Given the description of an element on the screen output the (x, y) to click on. 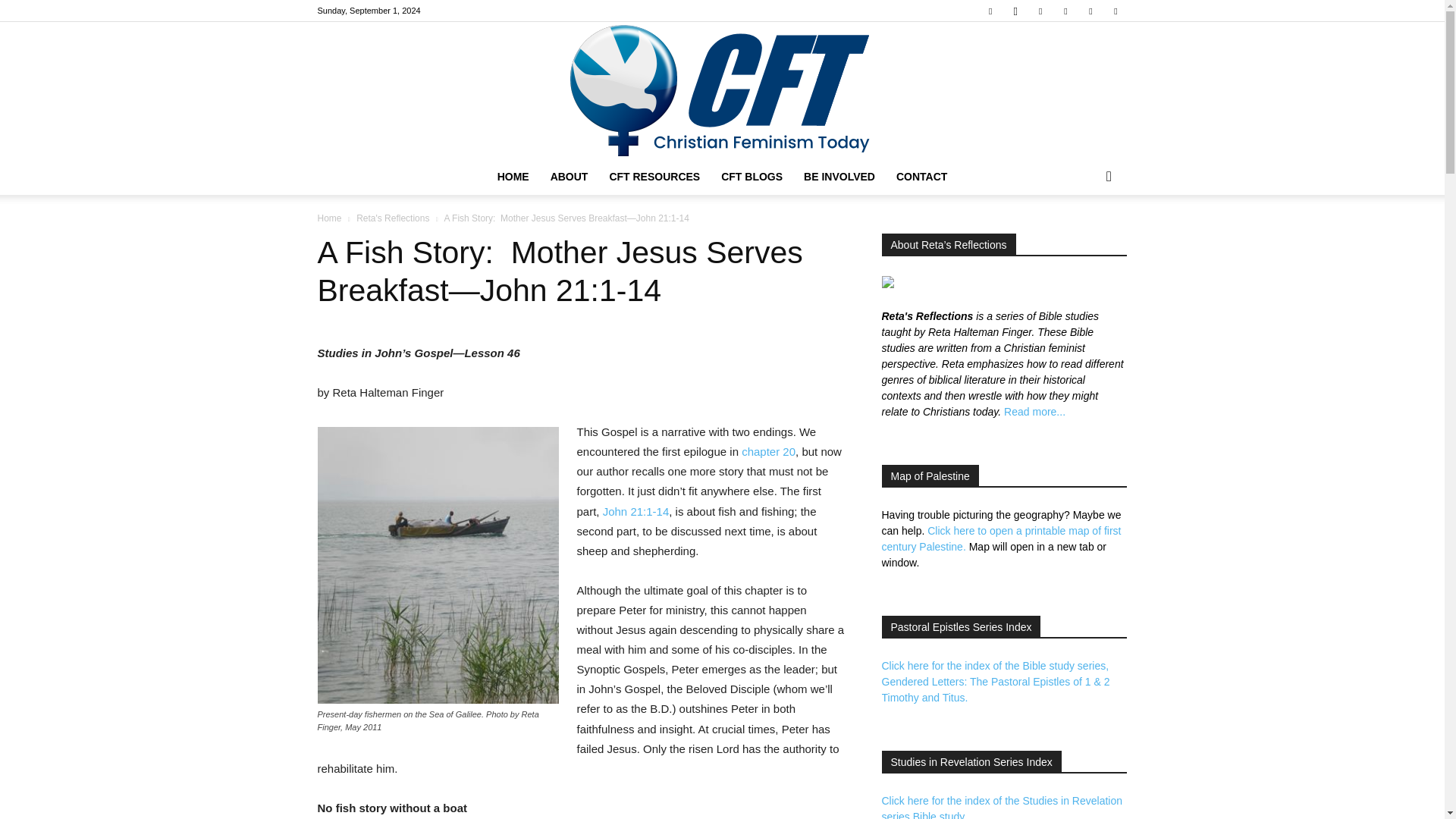
Twitter (1090, 10)
RSS (1065, 10)
Mail (1040, 10)
Christian Feminism Today (721, 90)
Facebook (989, 10)
Youtube (1114, 10)
Instagram (1015, 10)
